Given the description of an element on the screen output the (x, y) to click on. 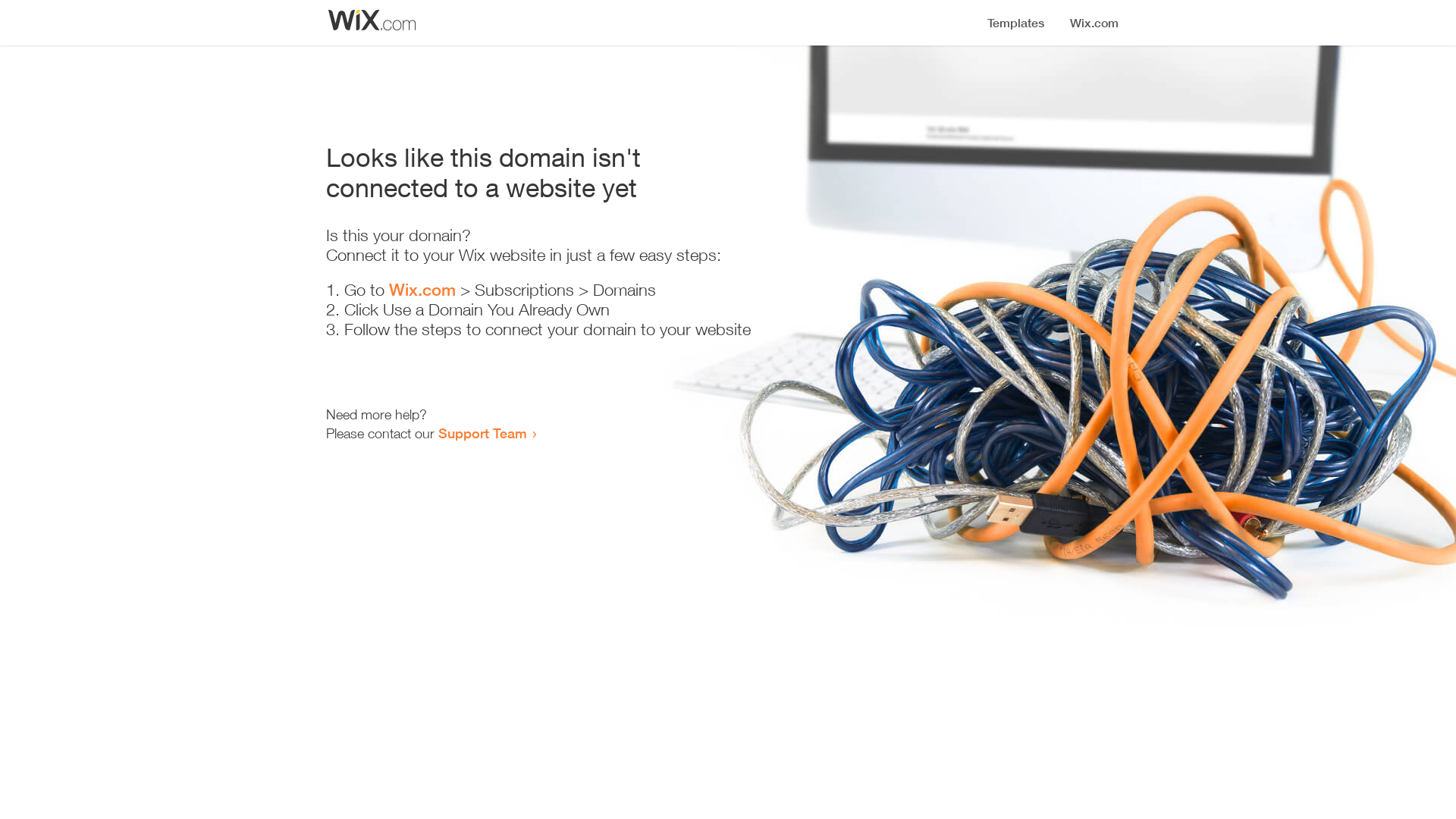
Wix.com Element type: text (422, 289)
Support Team Element type: text (482, 432)
